Given the description of an element on the screen output the (x, y) to click on. 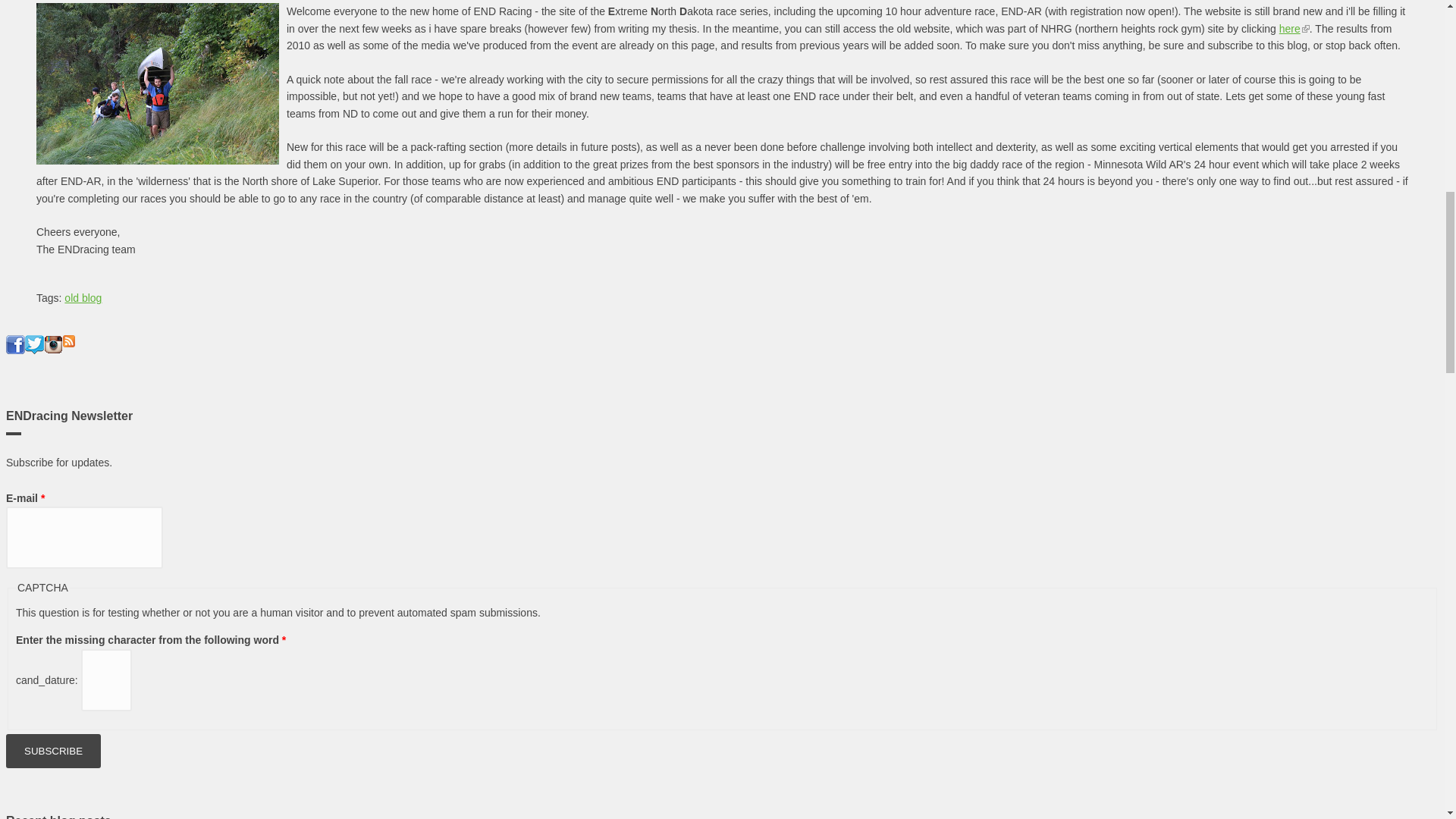
Subscribe (52, 750)
